Given the description of an element on the screen output the (x, y) to click on. 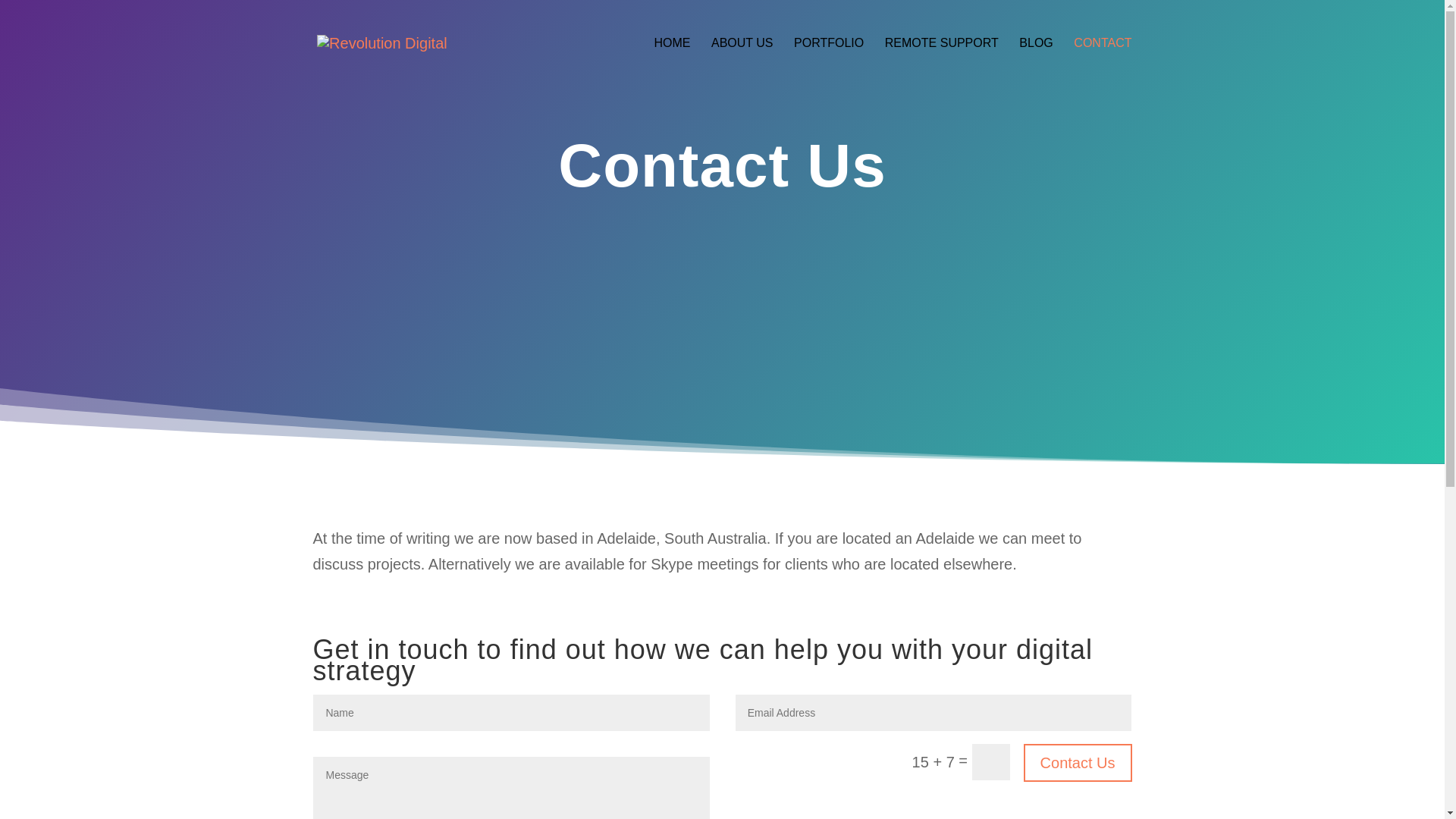
ABOUT US (742, 61)
CONTACT (1102, 61)
REMOTE SUPPORT (941, 61)
Contact Us (1077, 762)
PORTFOLIO (828, 61)
